Given the description of an element on the screen output the (x, y) to click on. 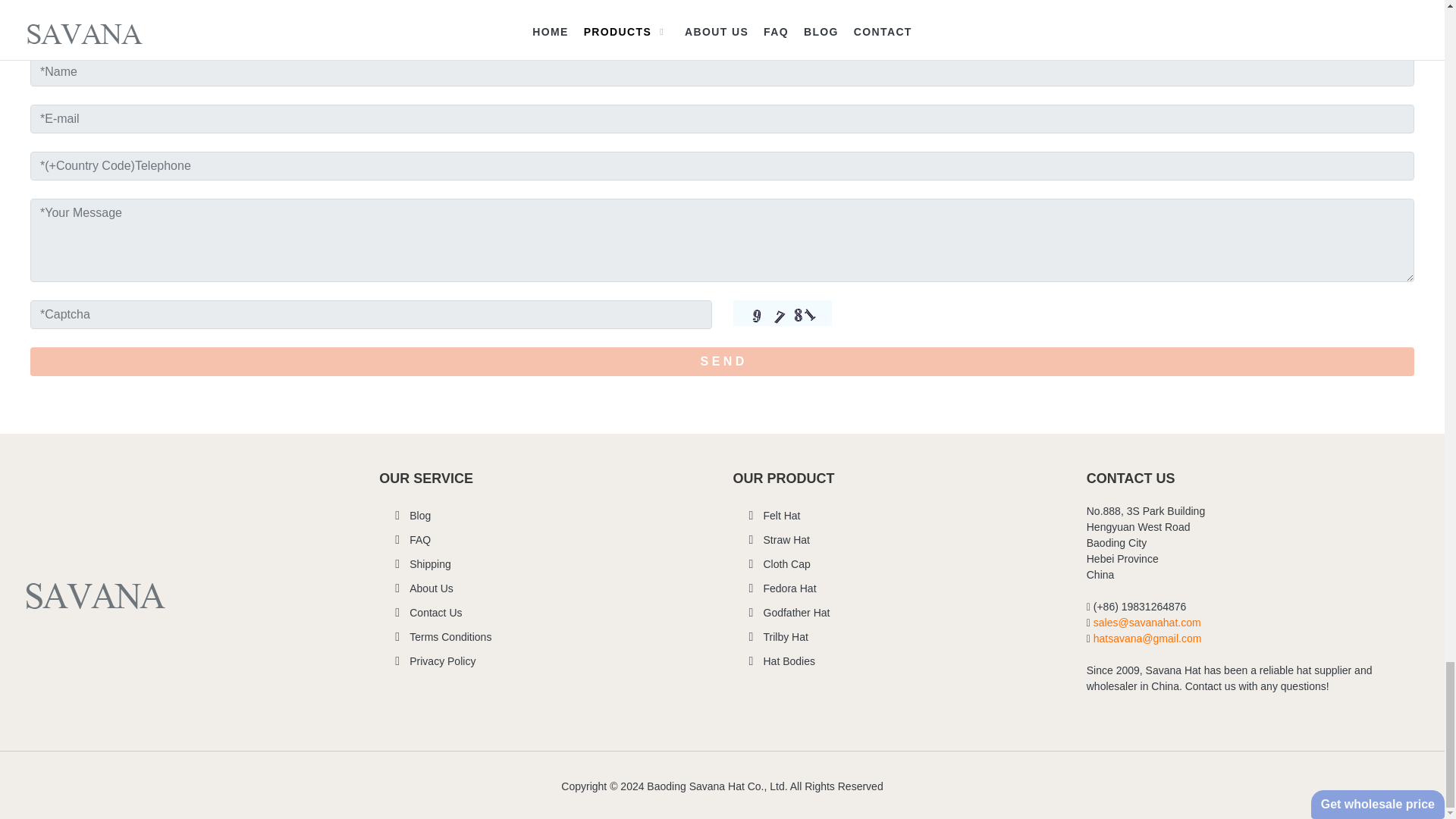
click to refresh (781, 312)
